Given the description of an element on the screen output the (x, y) to click on. 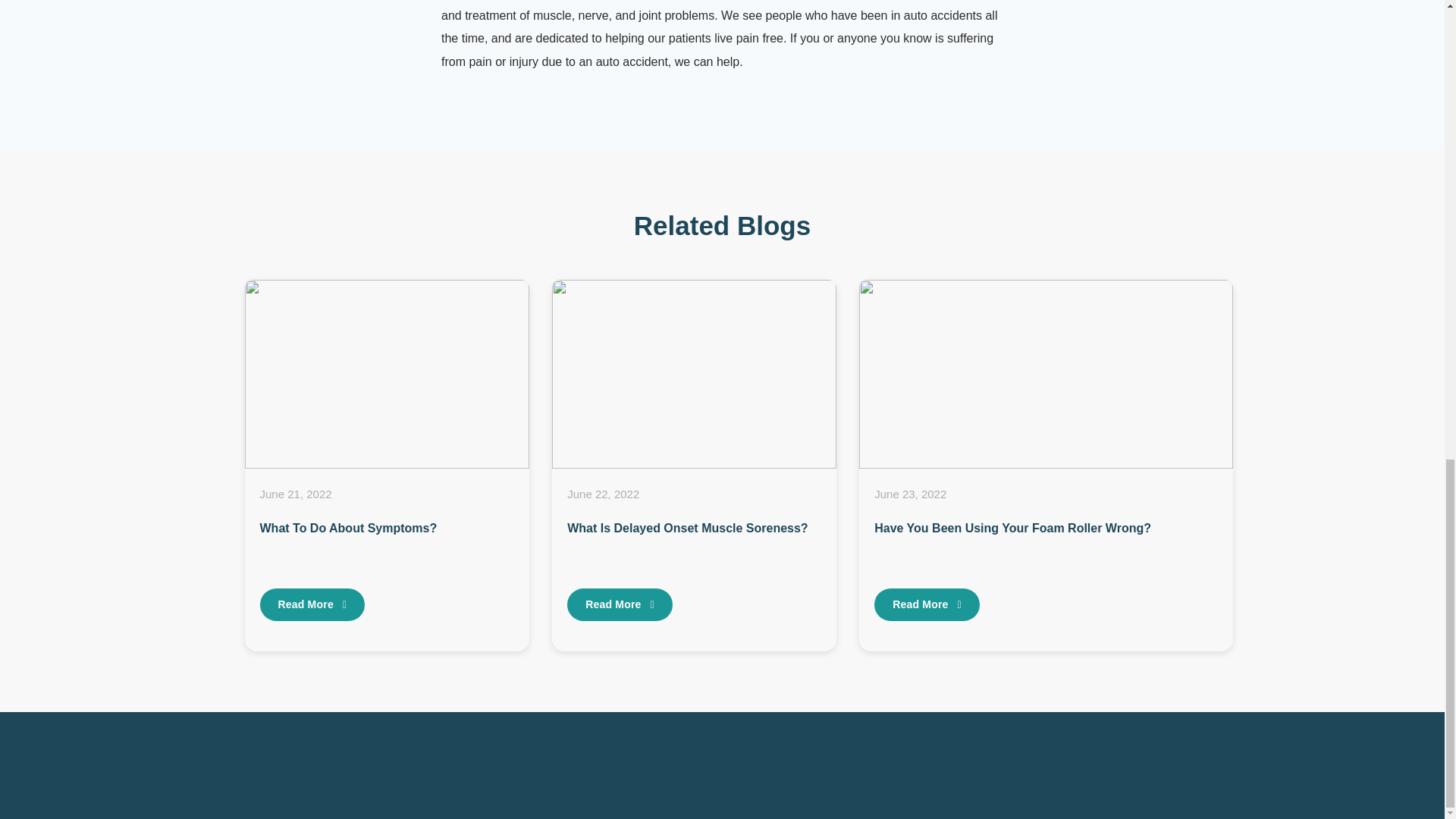
Read More (619, 604)
What Is Delayed Onset Muscle Soreness? (687, 527)
What To Do About Symptoms? (347, 527)
Read More (927, 604)
Read More (312, 604)
Have You Been Using Your Foam Roller Wrong? (1013, 527)
